Given the description of an element on the screen output the (x, y) to click on. 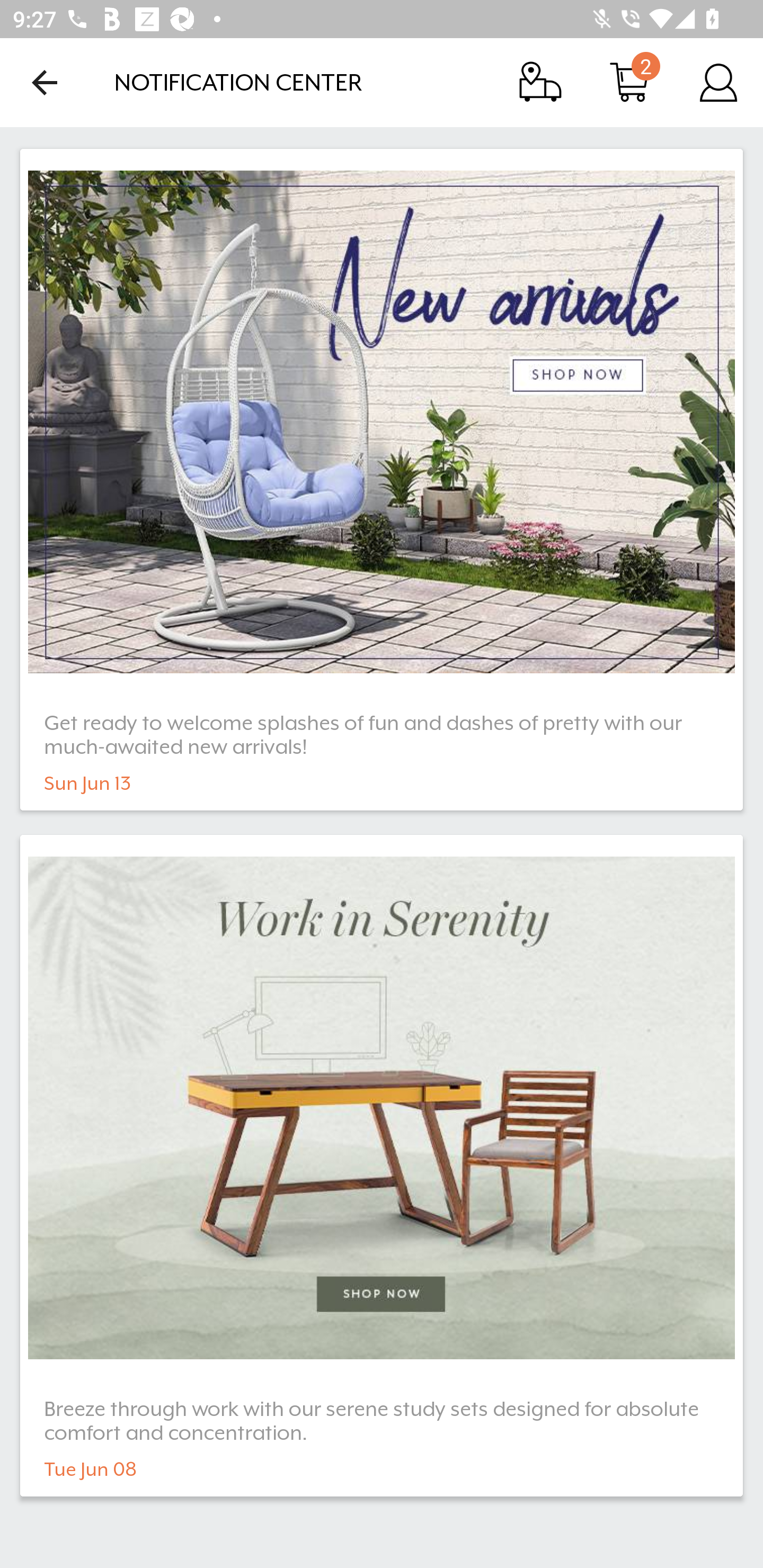
Navigate up (44, 82)
Track Order (540, 81)
Cart (629, 81)
Account Details (718, 81)
